Given the description of an element on the screen output the (x, y) to click on. 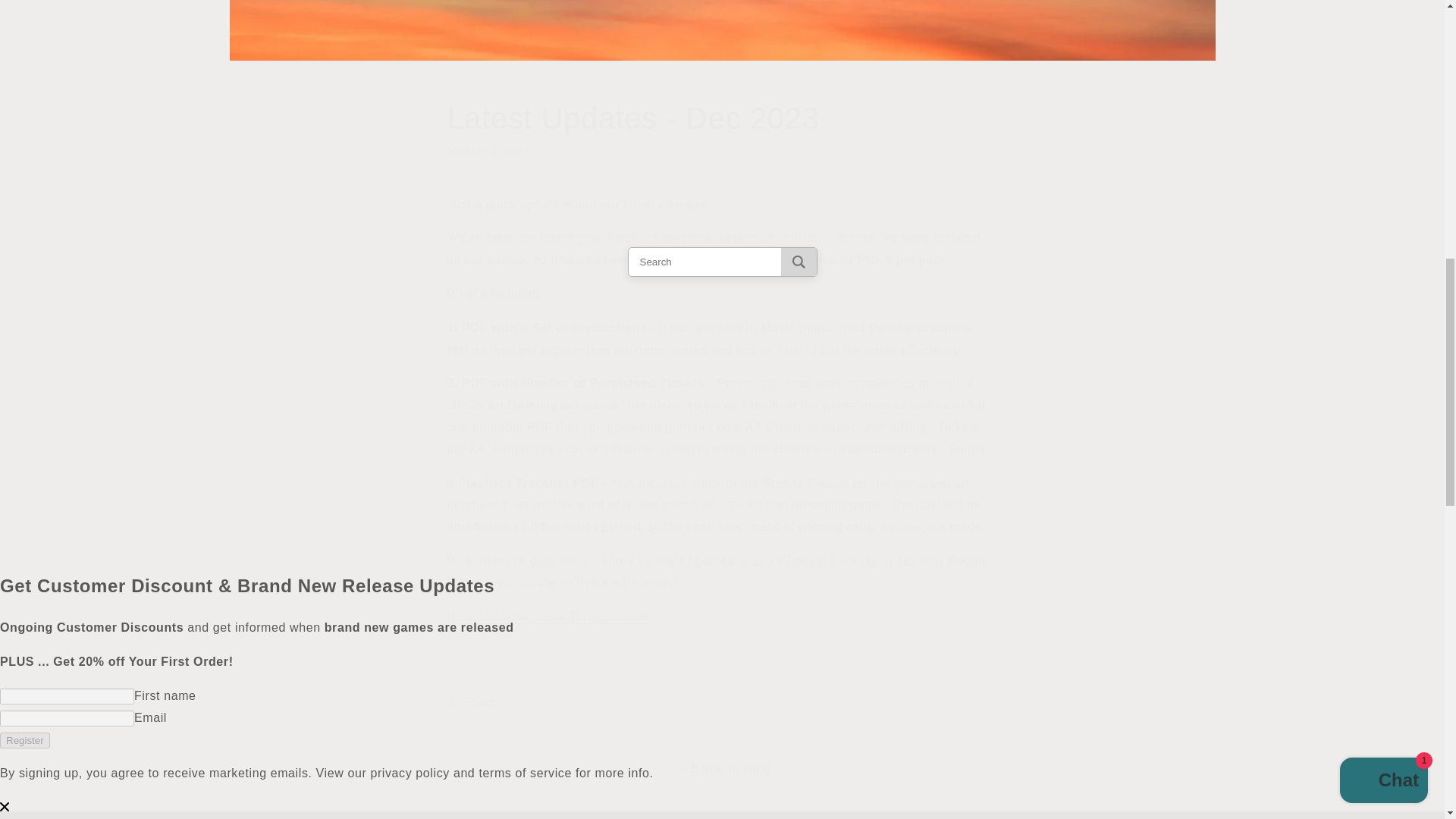
Downloadable Music Bingo Games (721, 127)
Share (547, 616)
